Given the description of an element on the screen output the (x, y) to click on. 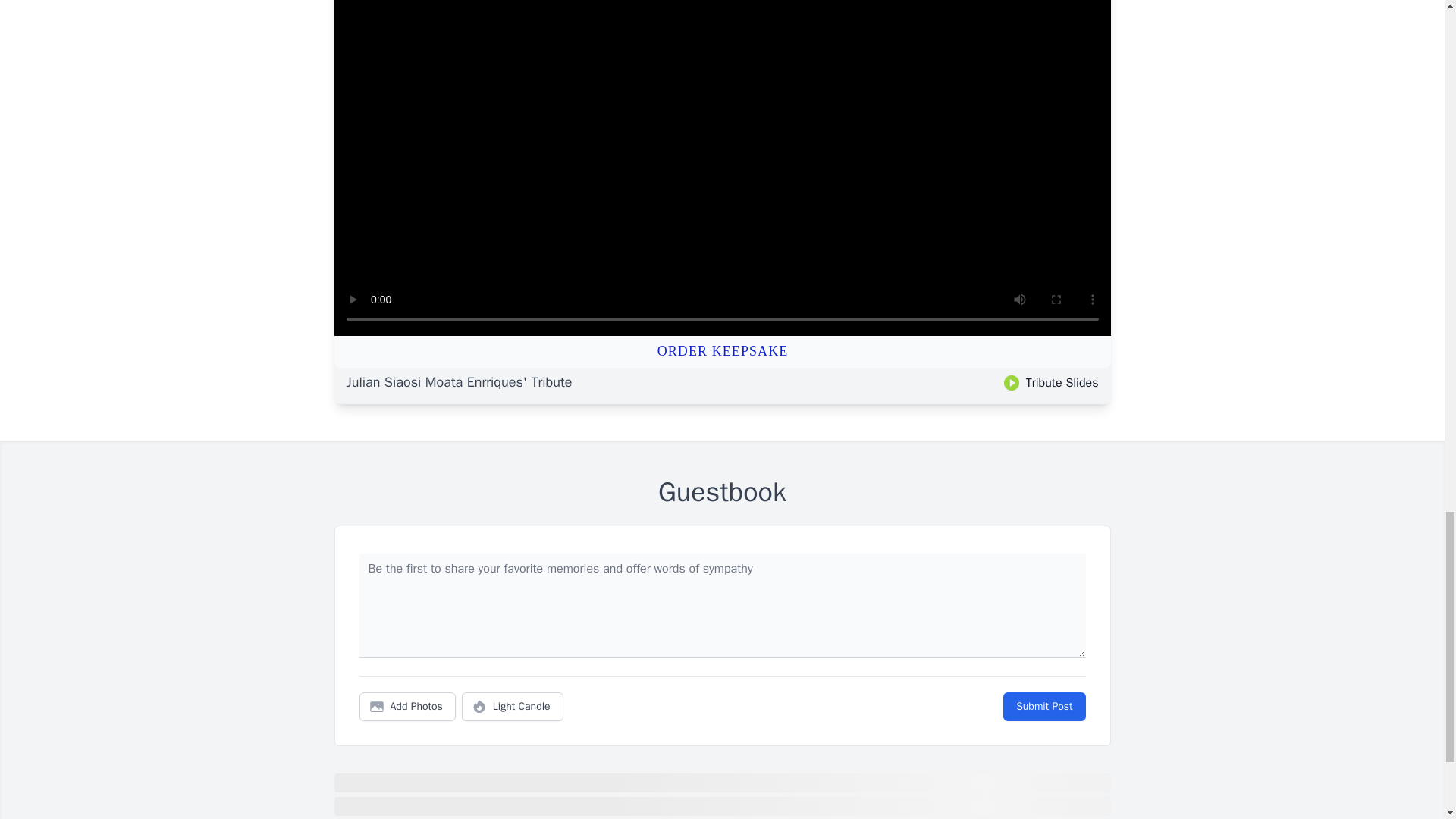
Add Photos (407, 706)
Light Candle (512, 706)
Submit Post (1043, 706)
